Given the description of an element on the screen output the (x, y) to click on. 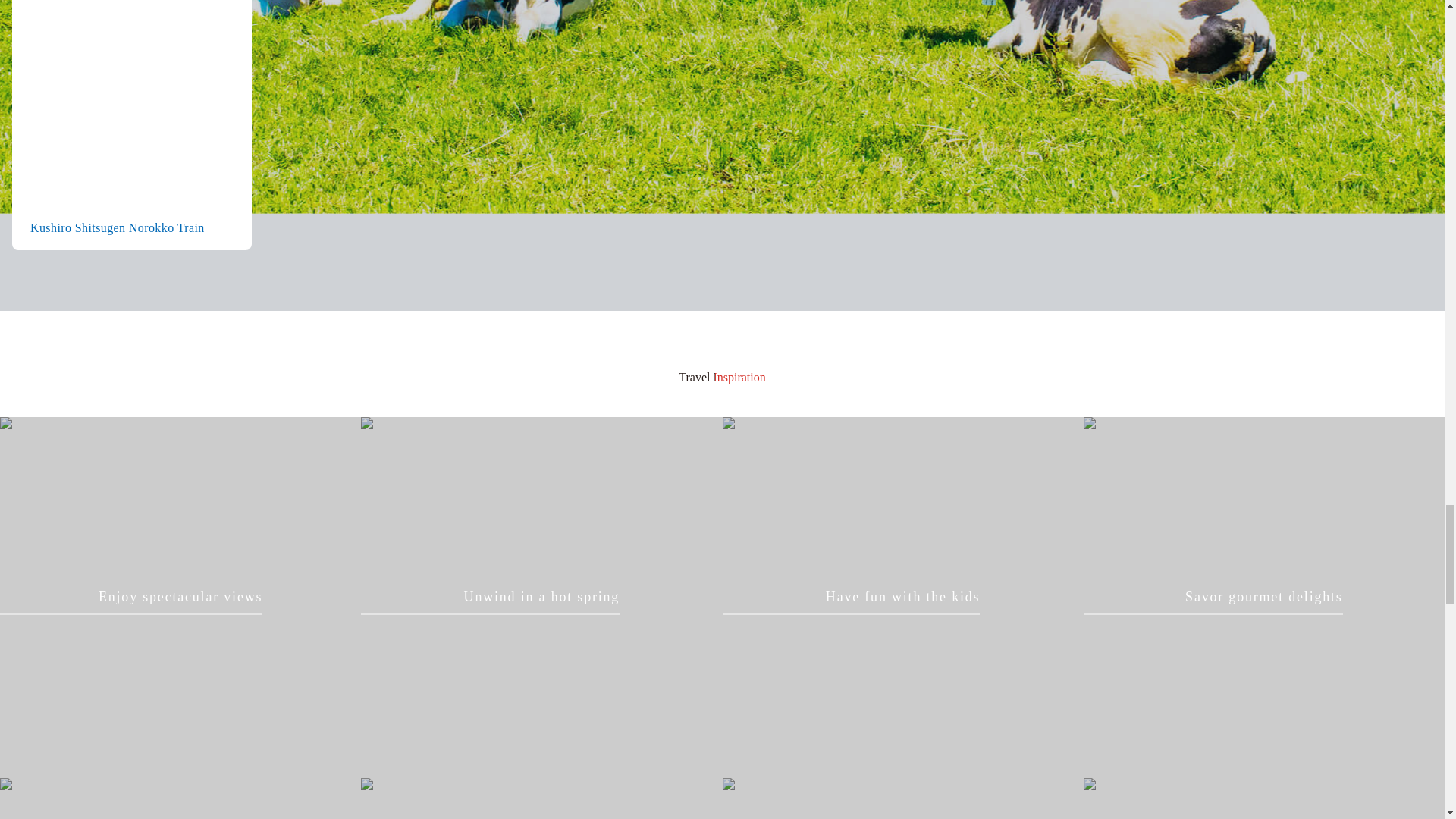
Kushiro Shitsugen Norokko Train (131, 125)
